Given the description of an element on the screen output the (x, y) to click on. 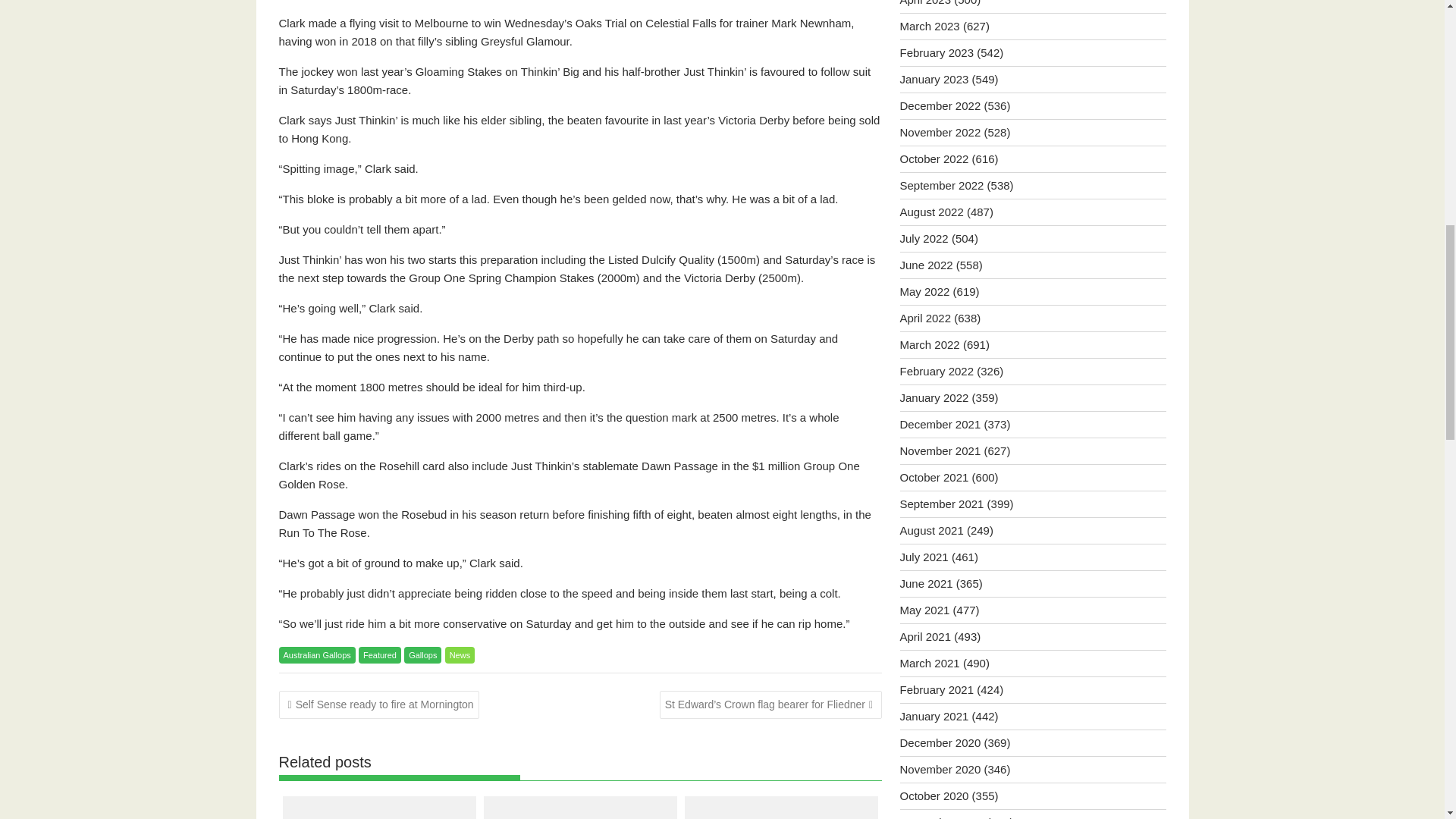
Featured (379, 655)
Self Sense ready to fire at Mornington (379, 705)
Australian Gallops (317, 655)
Gallops (422, 655)
News (460, 655)
